Given the description of an element on the screen output the (x, y) to click on. 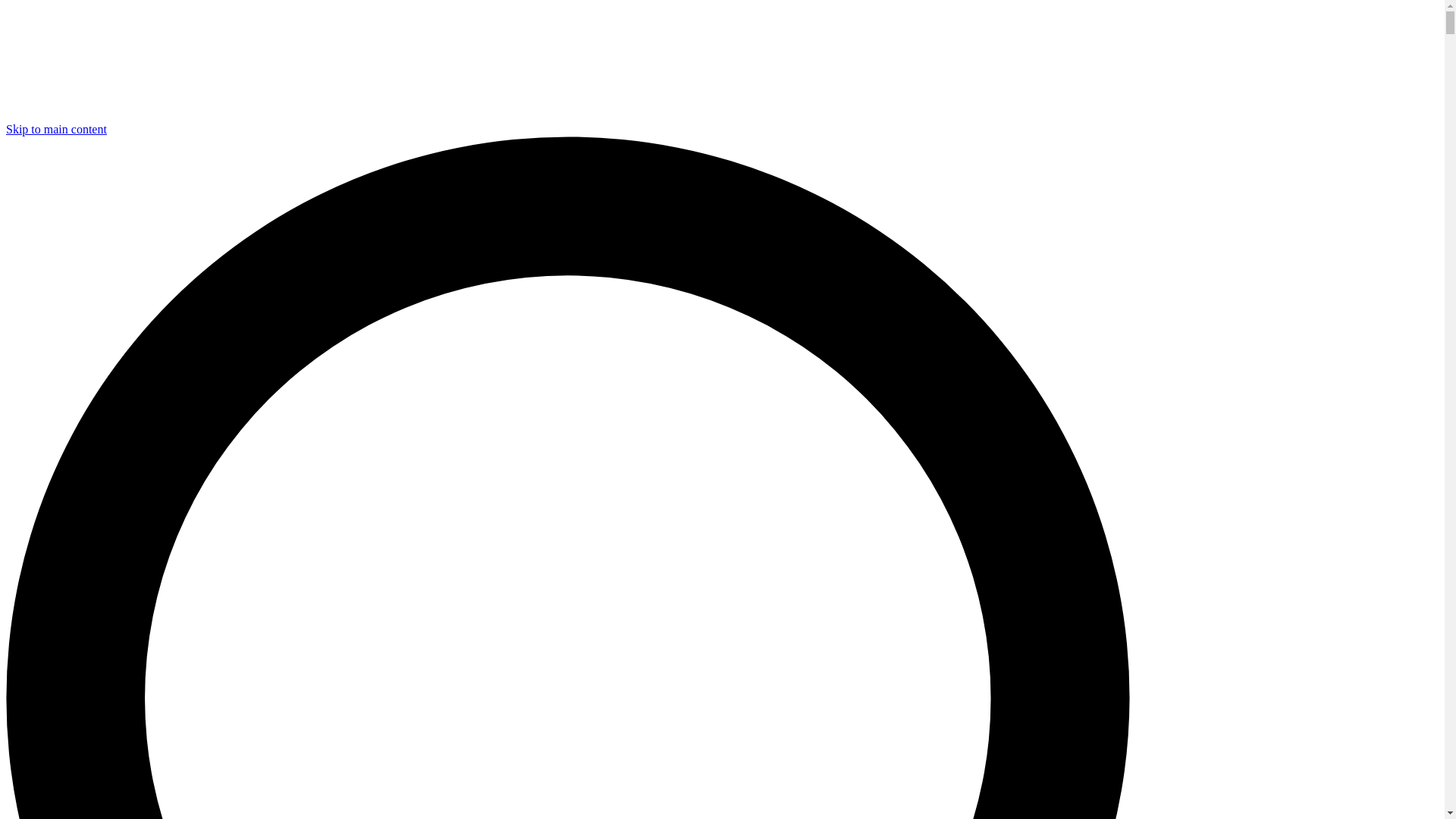
Skip to main content (55, 128)
